Given the description of an element on the screen output the (x, y) to click on. 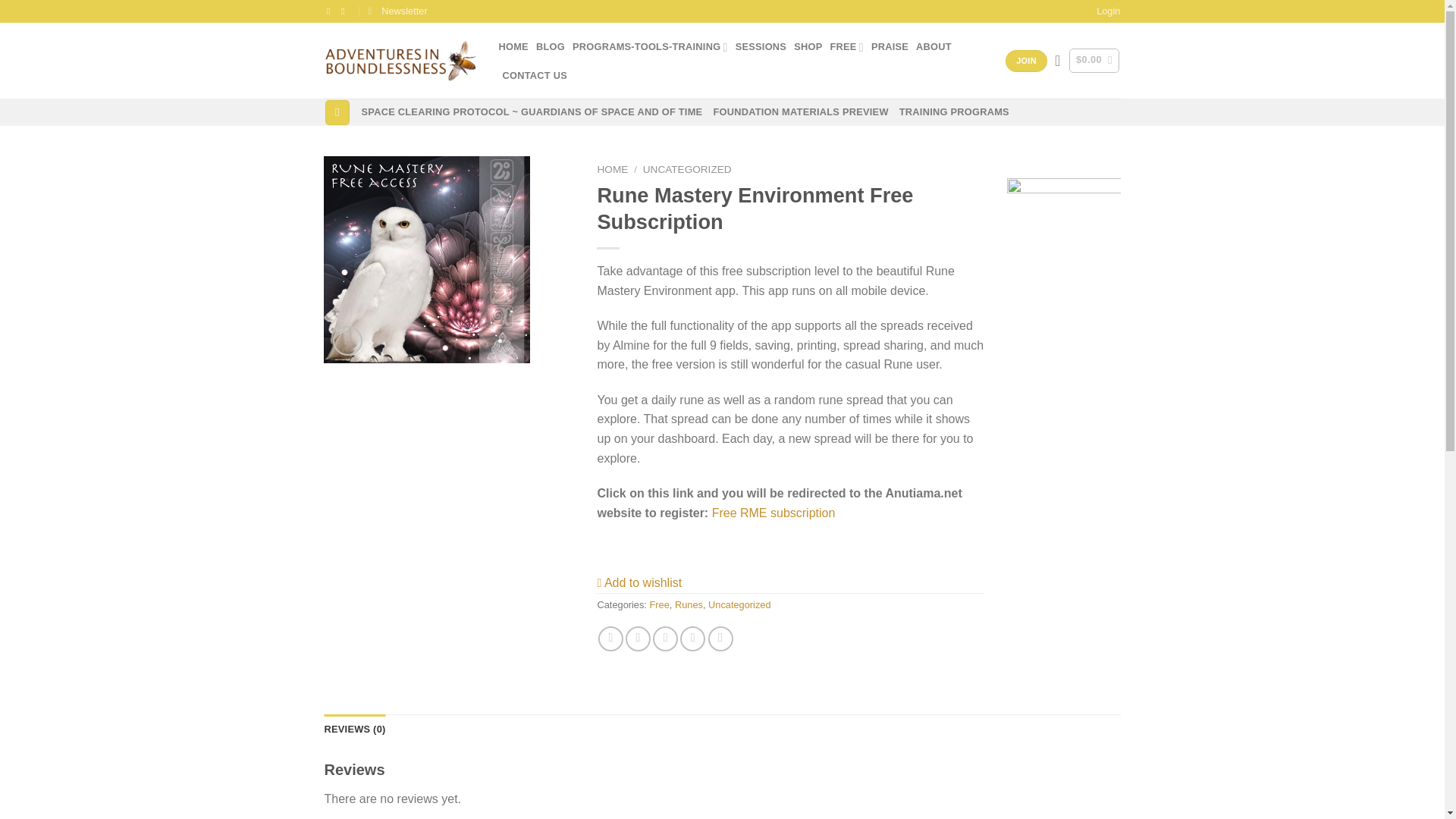
Sign up for Newsletter (397, 11)
HOME (611, 169)
Login (1107, 11)
Pin on Pinterest (691, 638)
ABOUT (933, 46)
HOME (513, 46)
Share on Facebook (610, 638)
Newsletter (397, 11)
Adventures in Boundlessness (400, 60)
FOUNDATION MATERIALS PREVIEW (800, 112)
